Given the description of an element on the screen output the (x, y) to click on. 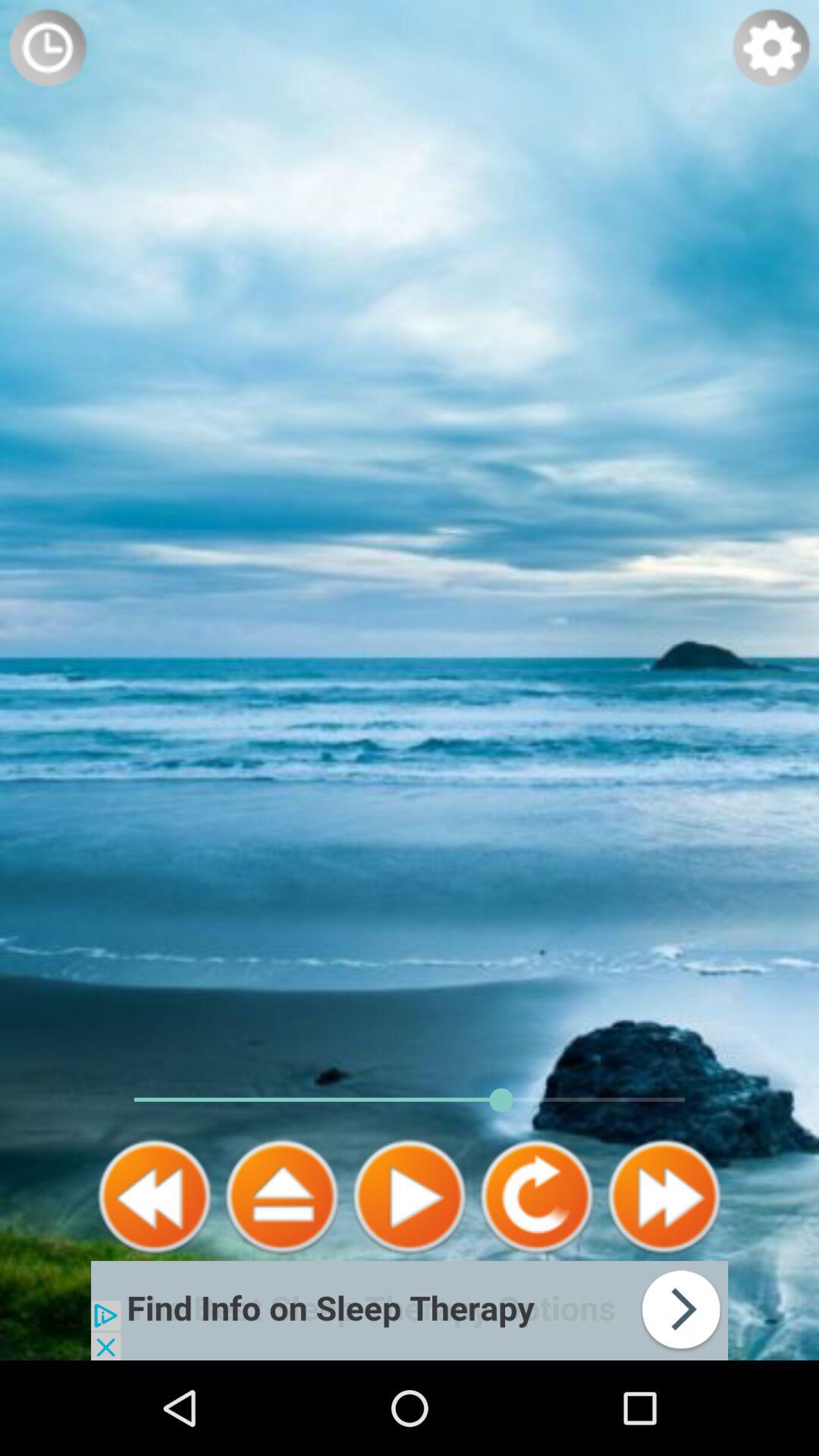
open advertisement (409, 1310)
